Given the description of an element on the screen output the (x, y) to click on. 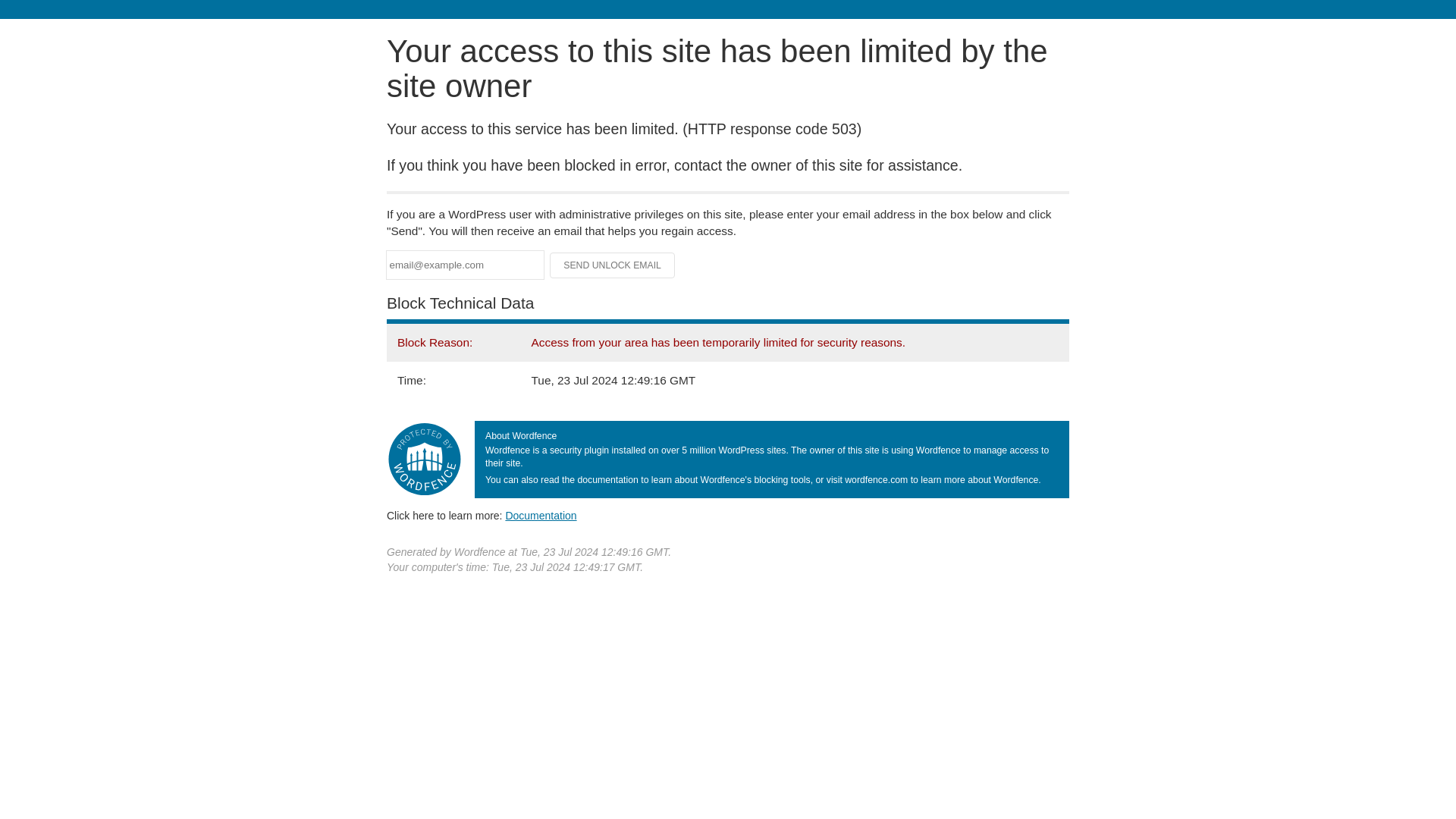
Send Unlock Email (612, 265)
Documentation (540, 515)
Send Unlock Email (612, 265)
